Given the description of an element on the screen output the (x, y) to click on. 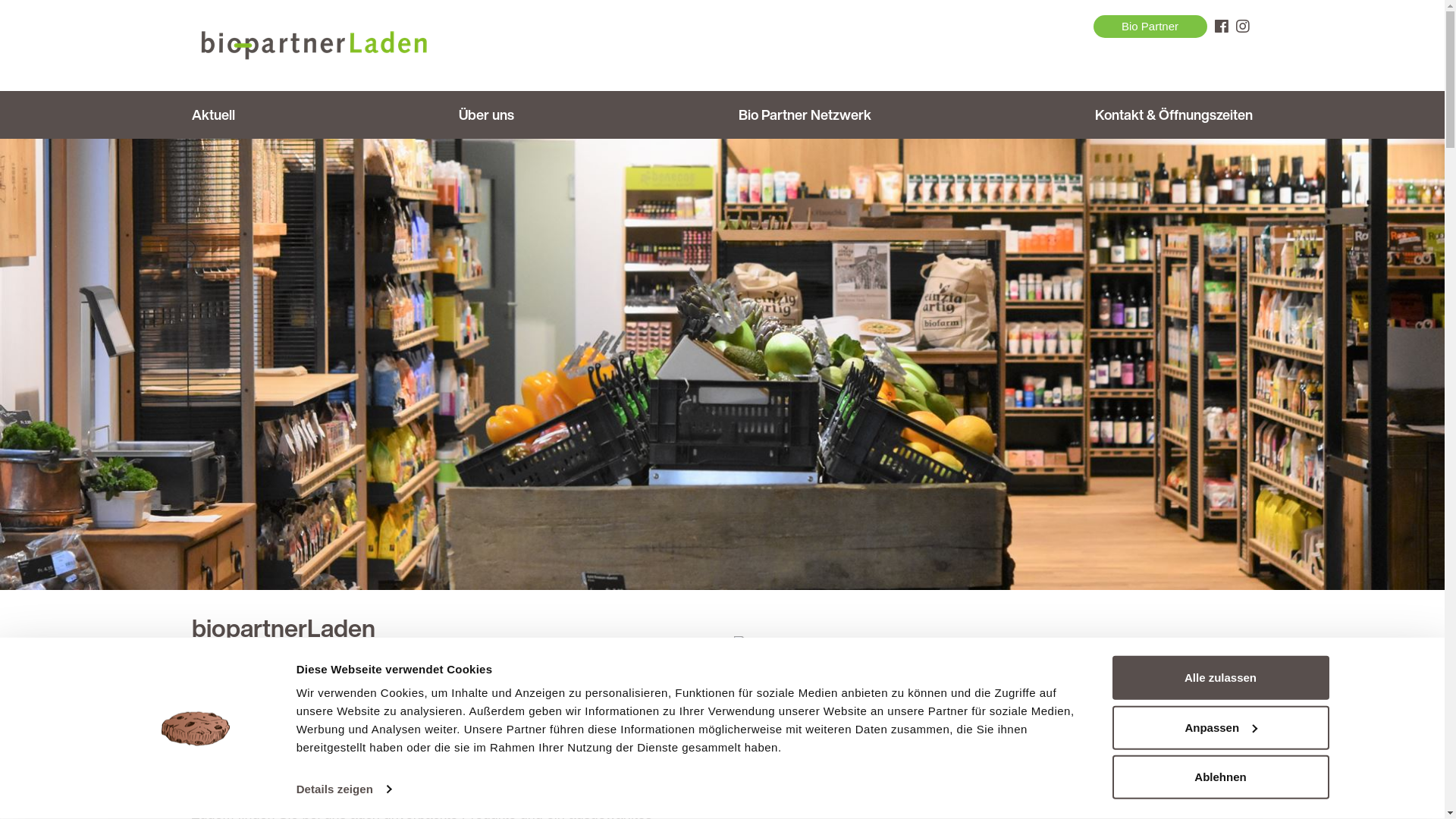
Ablehnen Element type: text (1219, 777)
Details zeigen Element type: text (343, 789)
biopartnerLaden Element type: hover (1220, 27)
Aktuell Element type: text (216, 114)
DSC 2909 Element type: hover (771, 644)
Anpassen Element type: text (1219, 727)
biopartnerLaden - Seon Element type: hover (312, 45)
DSC 2906 1 Element type: hover (722, 363)
biopartnerLaden Element type: hover (1241, 27)
Bio Partner Element type: text (1150, 26)
Alle zulassen Element type: text (1219, 677)
Bio Partner Netzwerk Element type: text (804, 114)
